Given the description of an element on the screen output the (x, y) to click on. 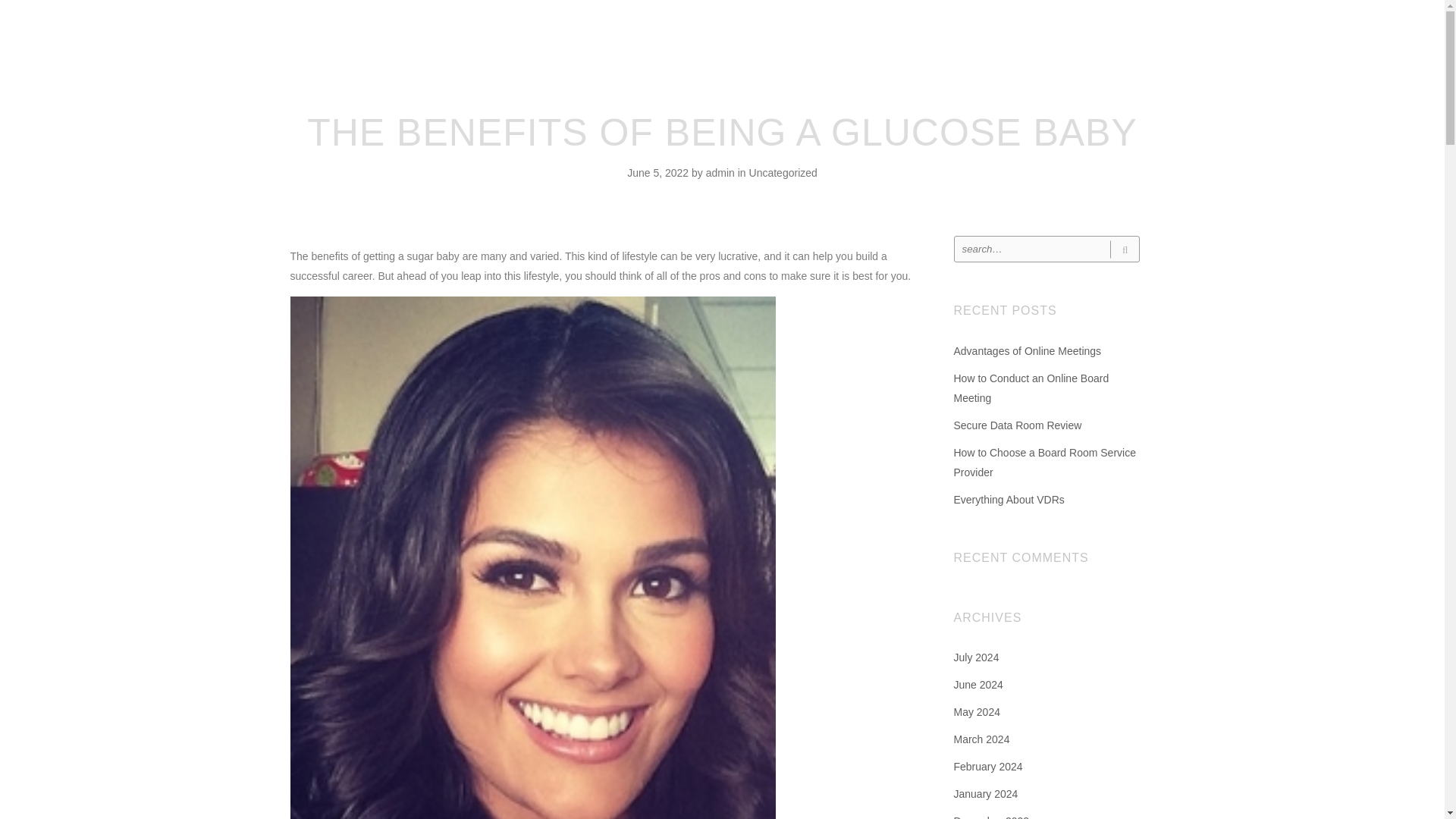
THE HIDDEN STUDIO (728, 33)
How to Choose a Board Room Service Provider (1044, 462)
Advantages of Online Meetings (1027, 350)
Uncategorized (782, 173)
Everything About VDRs (1008, 499)
admin (722, 173)
Secure Data Room Review (1017, 425)
How to Conduct an Online Board Meeting (1031, 388)
Search (1123, 248)
